Given the description of an element on the screen output the (x, y) to click on. 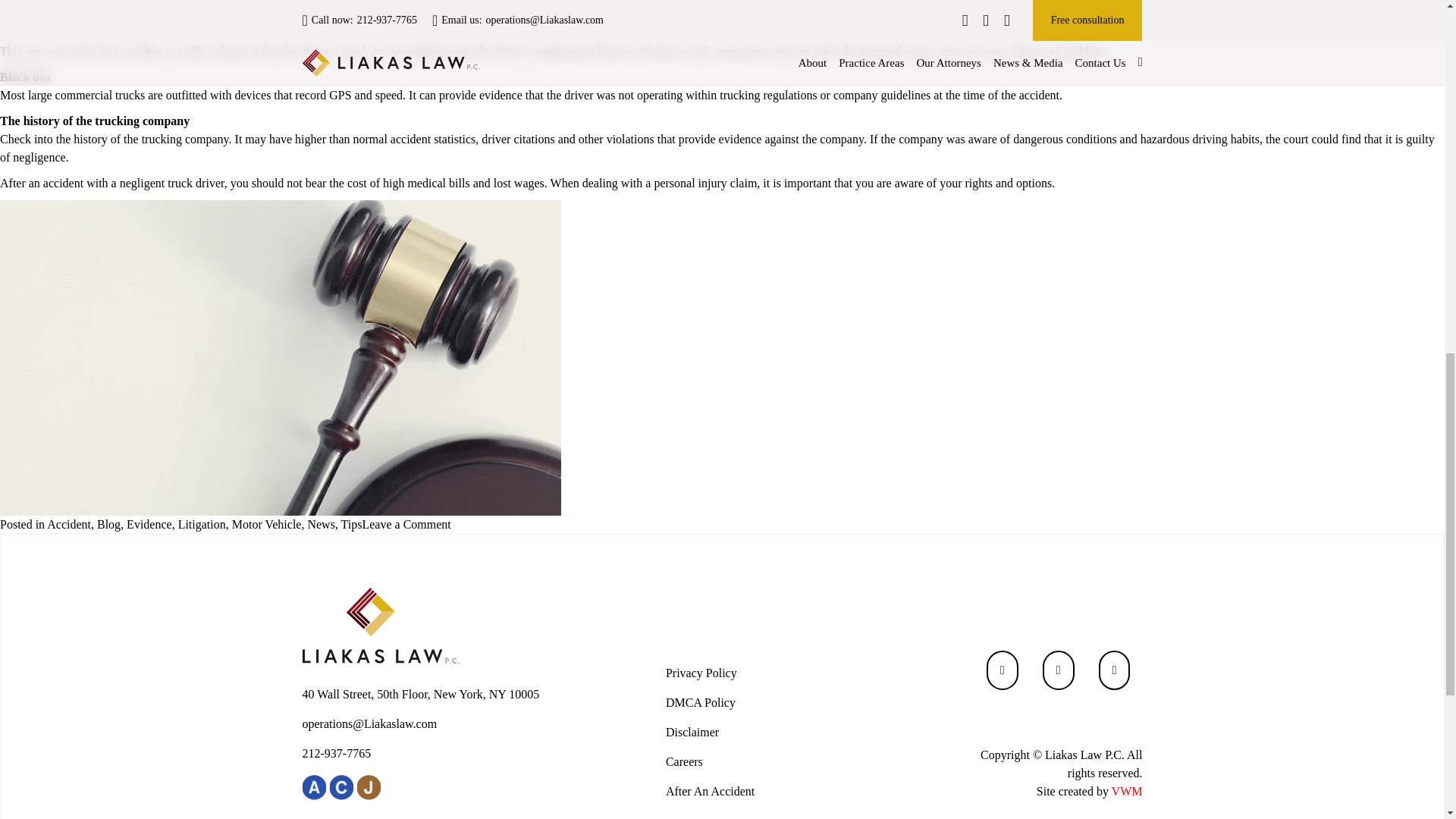
Blog (108, 523)
Motor Vehicle (266, 523)
Privacy Policy (700, 672)
Disclaimer (692, 731)
News (320, 523)
Evidence (148, 523)
Tips (351, 523)
DMCA Policy (700, 702)
Accident (68, 523)
212-937-7765 (424, 753)
Litigation (201, 523)
